Given the description of an element on the screen output the (x, y) to click on. 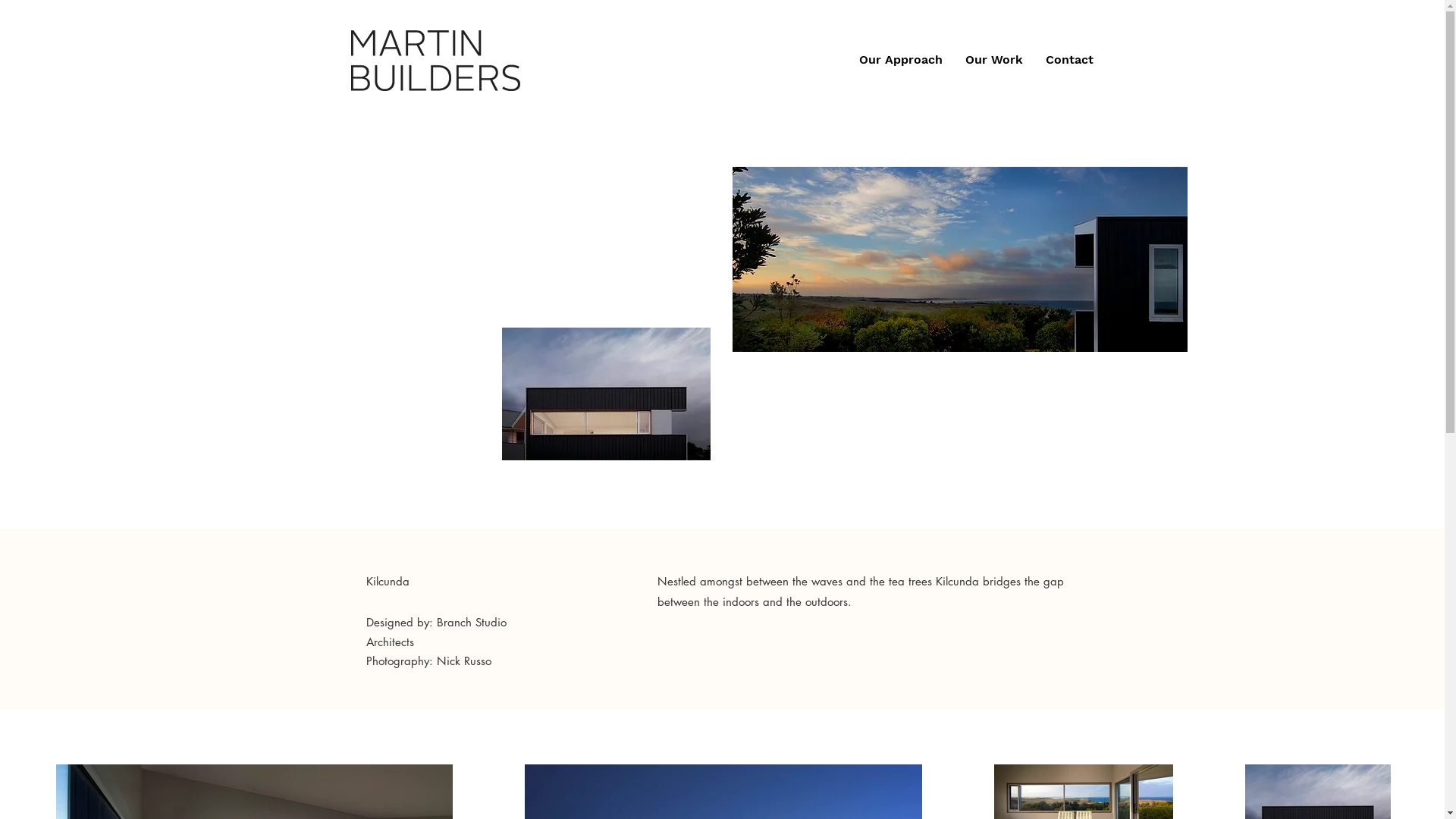
Contact Element type: text (1069, 59)
Our Work Element type: text (993, 59)
Our Approach Element type: text (900, 59)
